Given the description of an element on the screen output the (x, y) to click on. 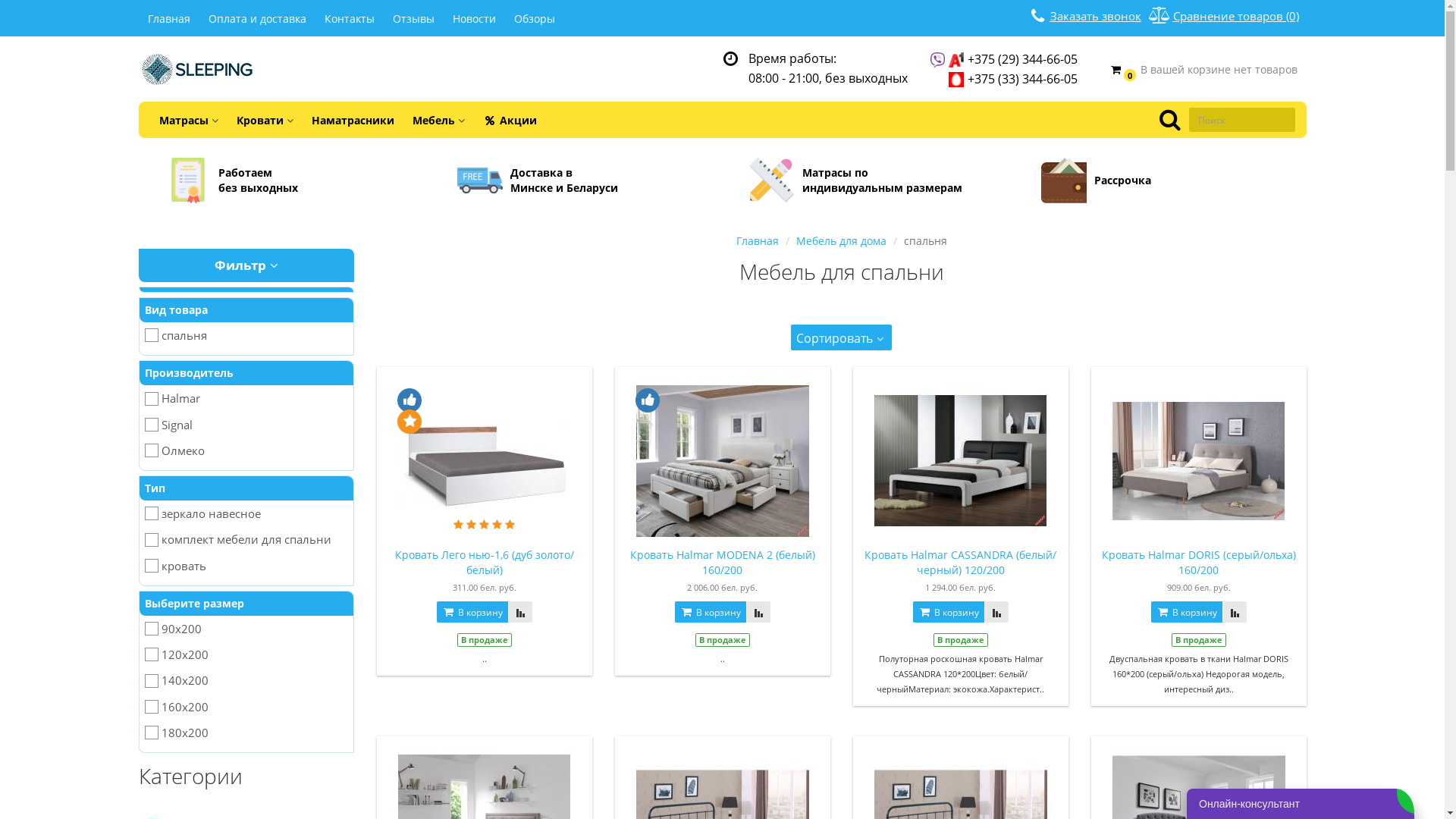
180x200 Element type: text (245, 732)
Signal Element type: text (245, 423)
160x200 Element type: text (245, 705)
90x200 Element type: text (245, 628)
140x200 Element type: text (245, 679)
120x200 Element type: text (245, 654)
sleeping.by Element type: hover (197, 68)
Halmar Element type: text (245, 397)
